Given the description of an element on the screen output the (x, y) to click on. 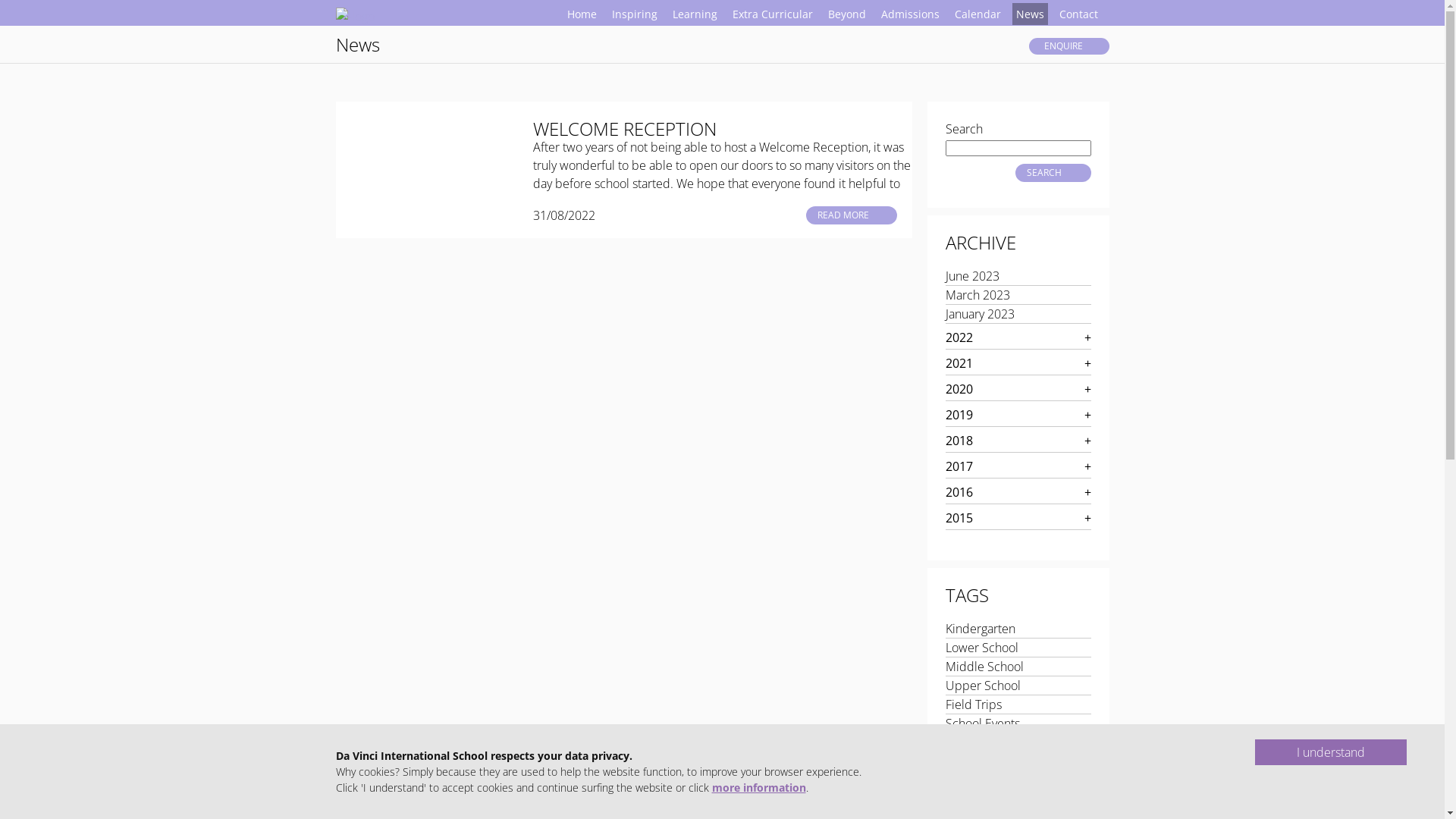
Field Trips Element type: text (972, 704)
Beyond Element type: text (846, 14)
Admissions Element type: text (909, 14)
Upper School Element type: text (981, 685)
News Element type: text (1029, 14)
Home Element type: text (580, 14)
Lower School Element type: text (980, 647)
more information Element type: text (758, 787)
Contact Element type: text (1078, 14)
Staff Element type: text (956, 742)
June 2023 Element type: text (971, 275)
March 2023 Element type: text (976, 294)
Kindergarten Element type: text (979, 628)
News Element type: text (357, 44)
Inspiring Element type: text (634, 14)
January 2023 Element type: text (978, 313)
1 Element type: text (342, 810)
Learning Element type: text (694, 14)
READ MORE Element type: text (850, 215)
Extra Curricular Element type: text (771, 14)
School Events Element type: text (981, 723)
Middle School Element type: text (983, 666)
ENQUIRE Element type: text (1068, 45)
Calendar Element type: text (977, 14)
